Given the description of an element on the screen output the (x, y) to click on. 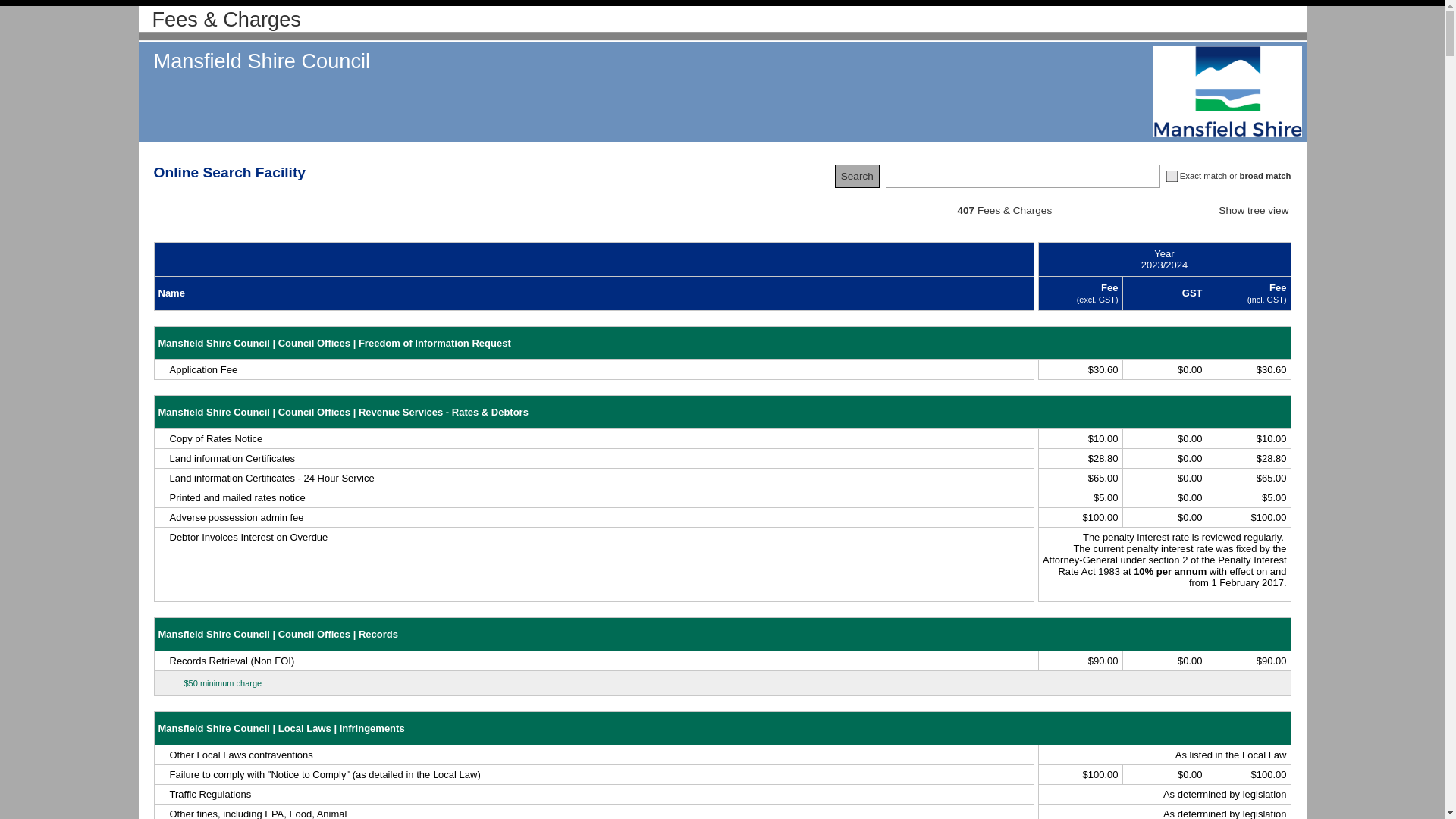
Show tree view Element type: text (1253, 210)
Search Element type: text (856, 176)
